Given the description of an element on the screen output the (x, y) to click on. 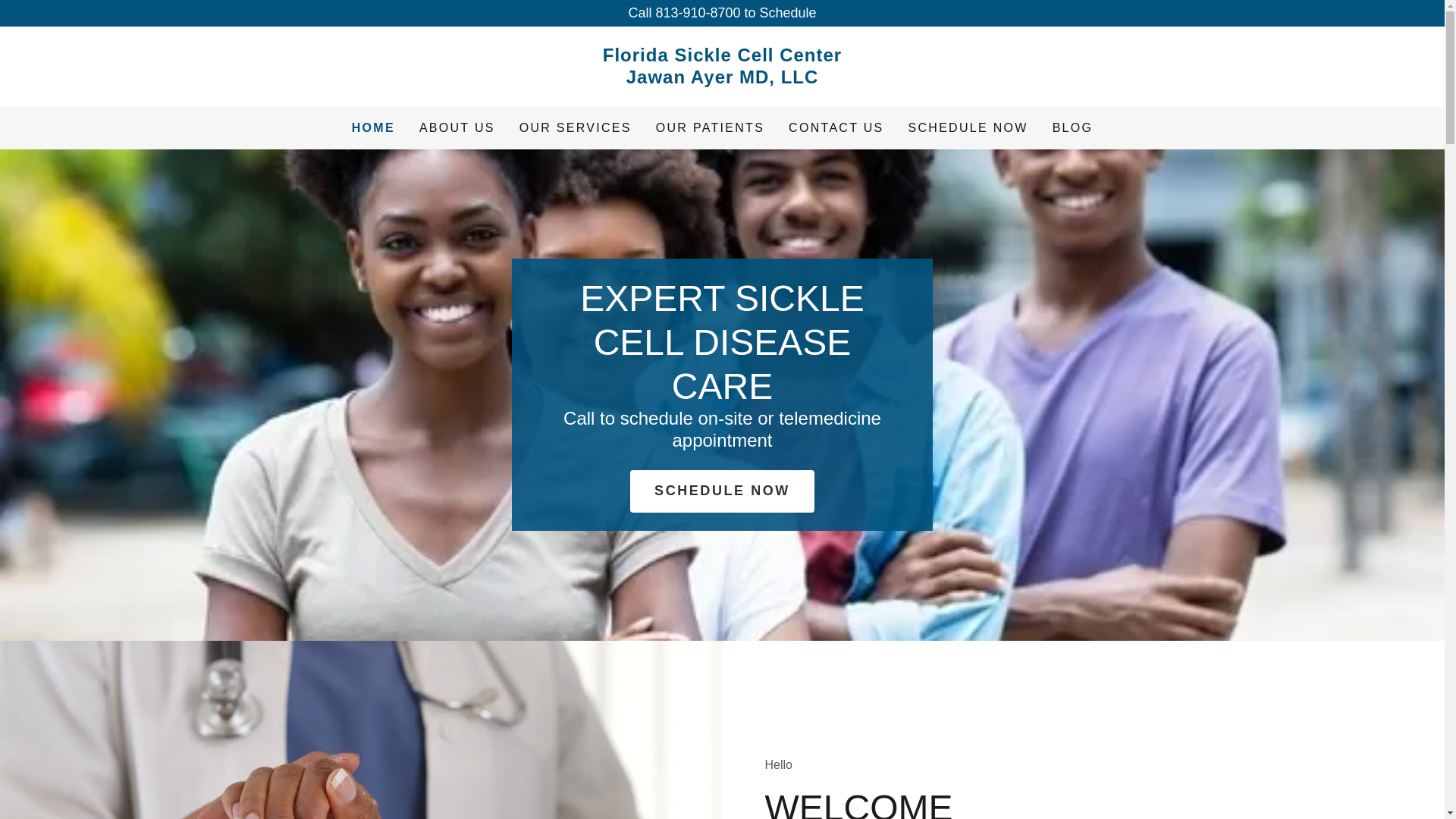
ABOUT US (456, 127)
HOME (373, 127)
OUR PATIENTS (709, 127)
SCHEDULE NOW (968, 127)
CONTACT US (836, 127)
SCHEDULE NOW (721, 491)
OUR SERVICES (721, 78)
BLOG (575, 127)
